Given the description of an element on the screen output the (x, y) to click on. 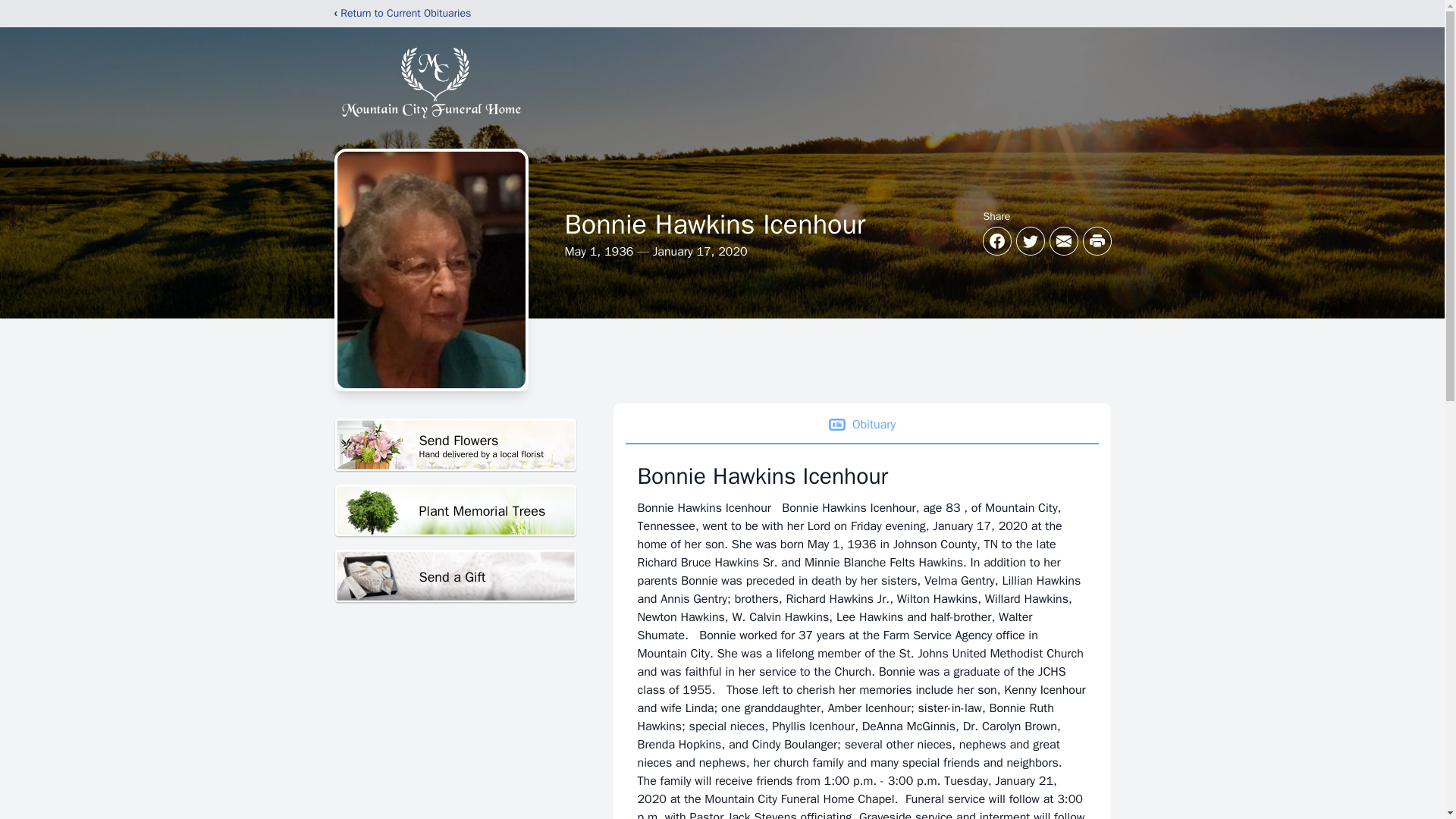
Obituary (454, 445)
Plant Memorial Trees (860, 425)
Send a Gift (454, 511)
